Given the description of an element on the screen output the (x, y) to click on. 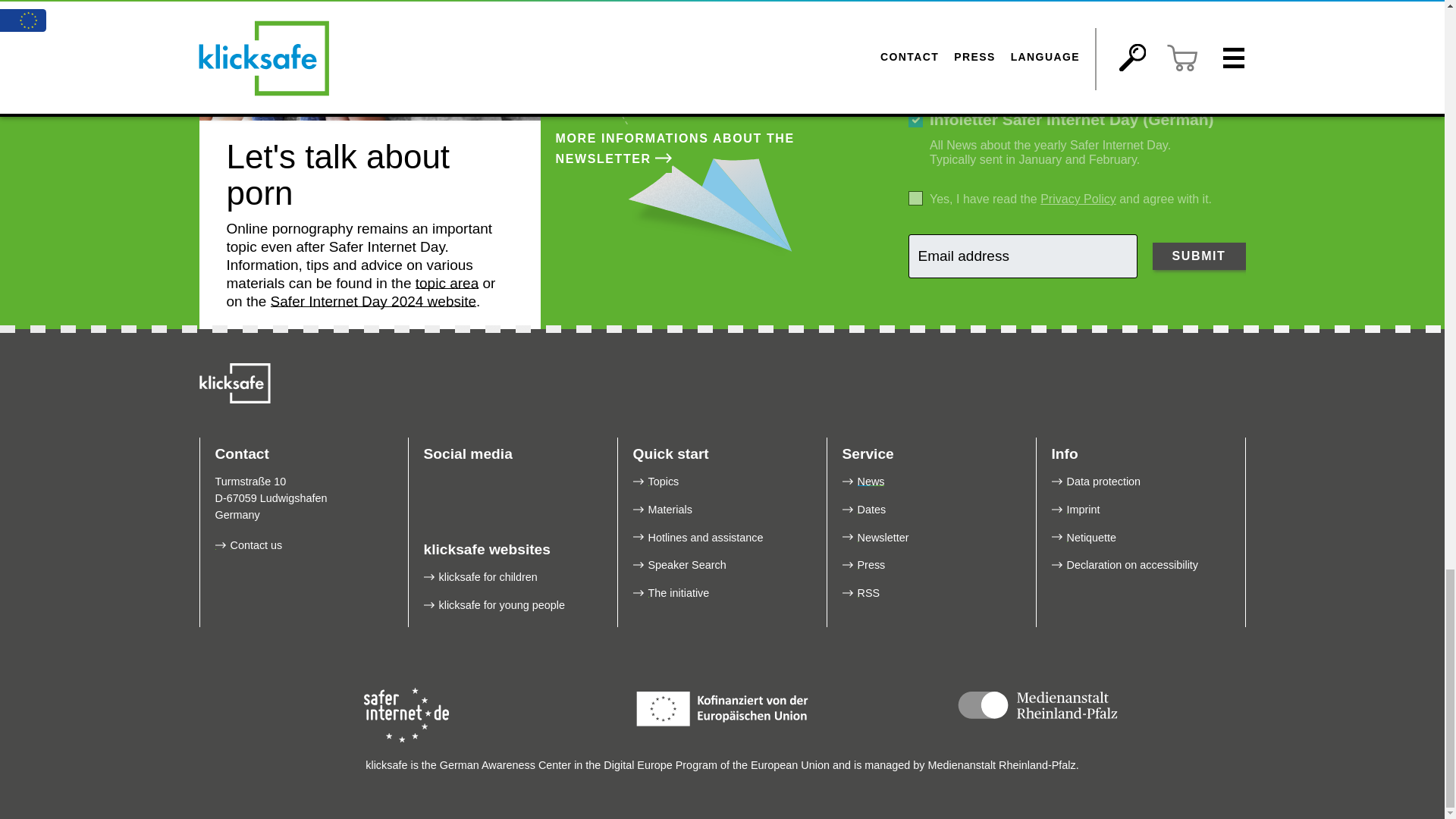
1 (915, 197)
Let's talk about porn (369, 60)
1 (915, 120)
1 (915, 48)
